Given the description of an element on the screen output the (x, y) to click on. 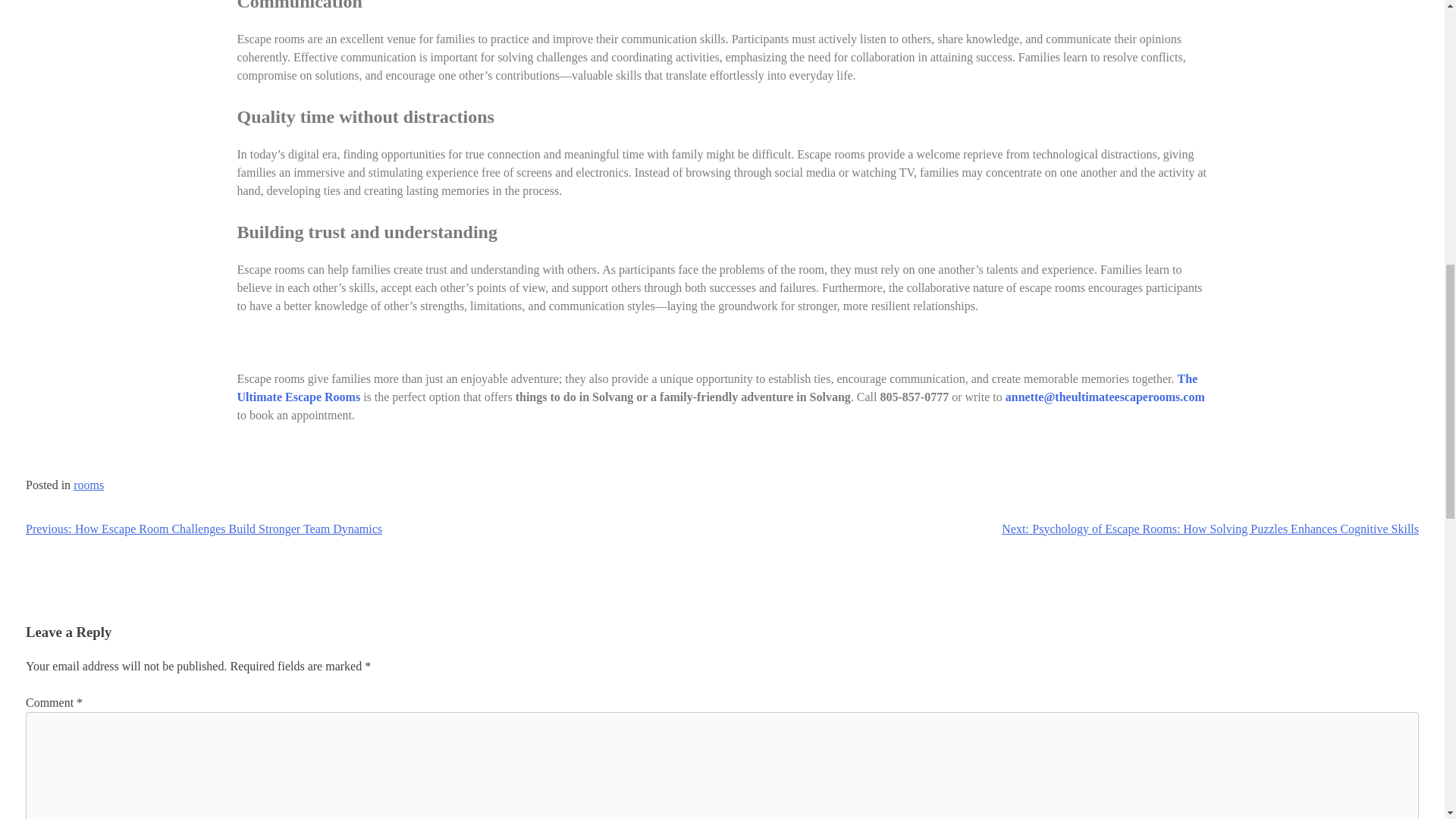
rooms (88, 484)
The Ultimate Escape Rooms (715, 387)
